Given the description of an element on the screen output the (x, y) to click on. 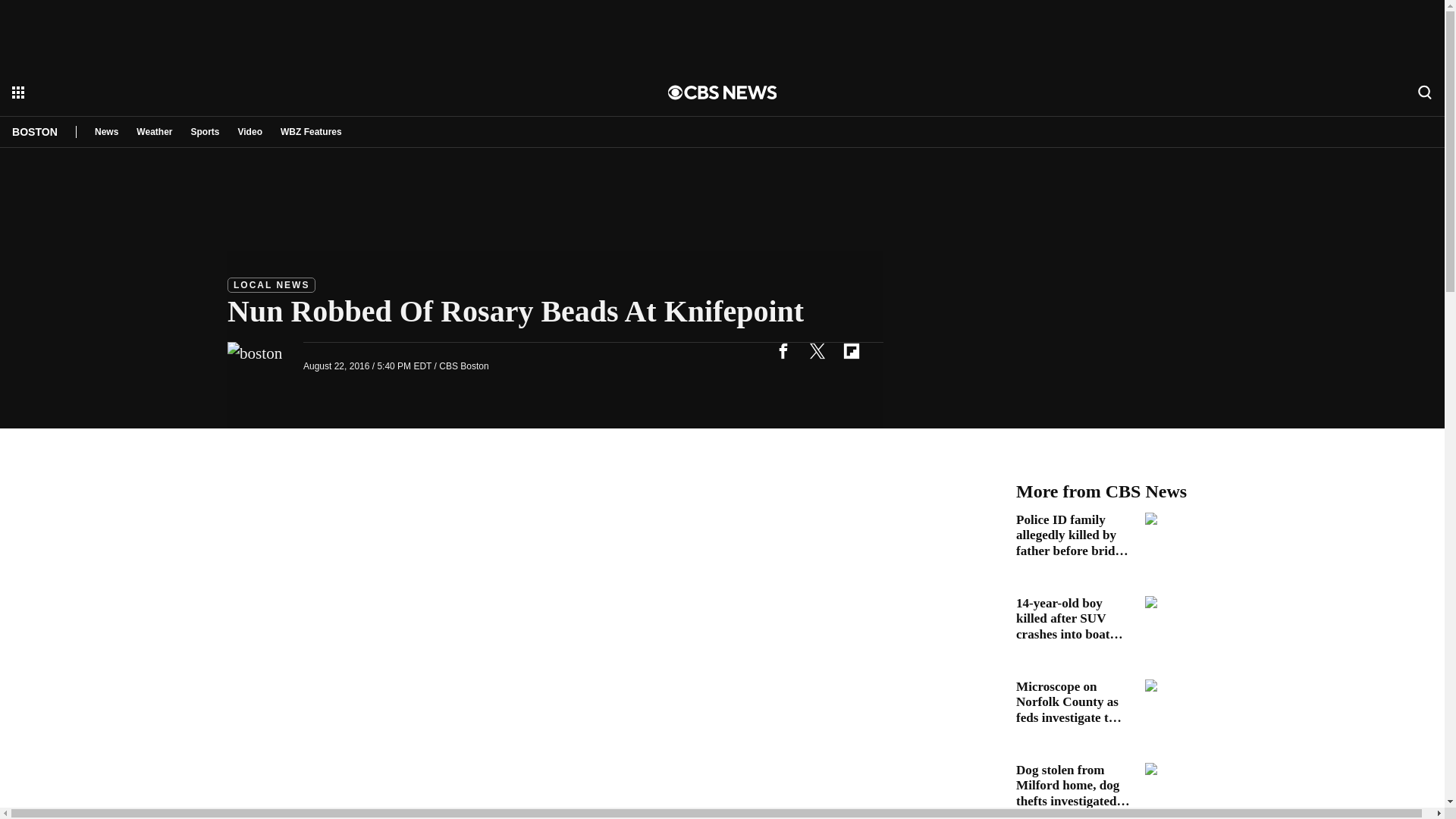
twitter (816, 350)
flipboard (850, 350)
facebook (782, 350)
